Given the description of an element on the screen output the (x, y) to click on. 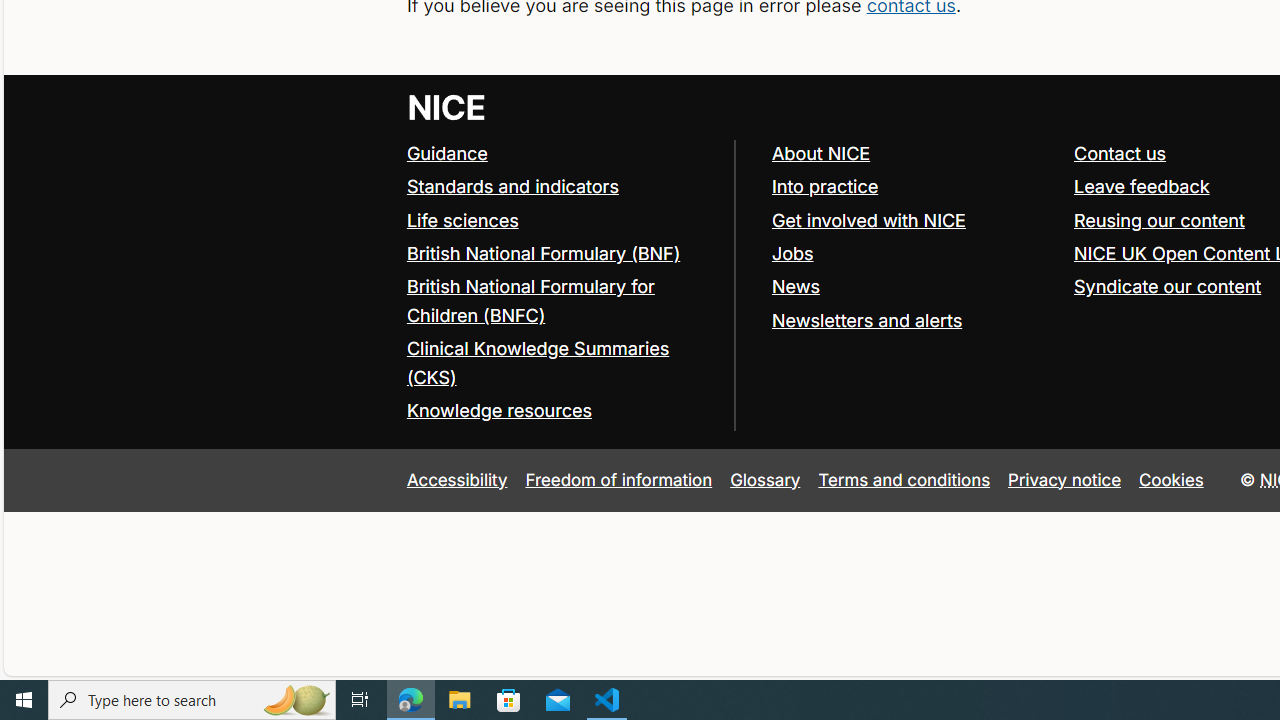
Jobs (792, 252)
British National Formulary for Children (BNFC) (560, 301)
Life sciences (560, 220)
Cookies (1171, 479)
Leave feedback (1141, 186)
Guidance (446, 152)
Guidance (560, 153)
Syndicate our content (1167, 285)
Glossary (765, 479)
Go to NICE home page (445, 106)
About NICE (820, 152)
Terms and conditions (903, 479)
Jobs (913, 254)
Freedom of information (618, 479)
Terms and conditions (903, 479)
